Given the description of an element on the screen output the (x, y) to click on. 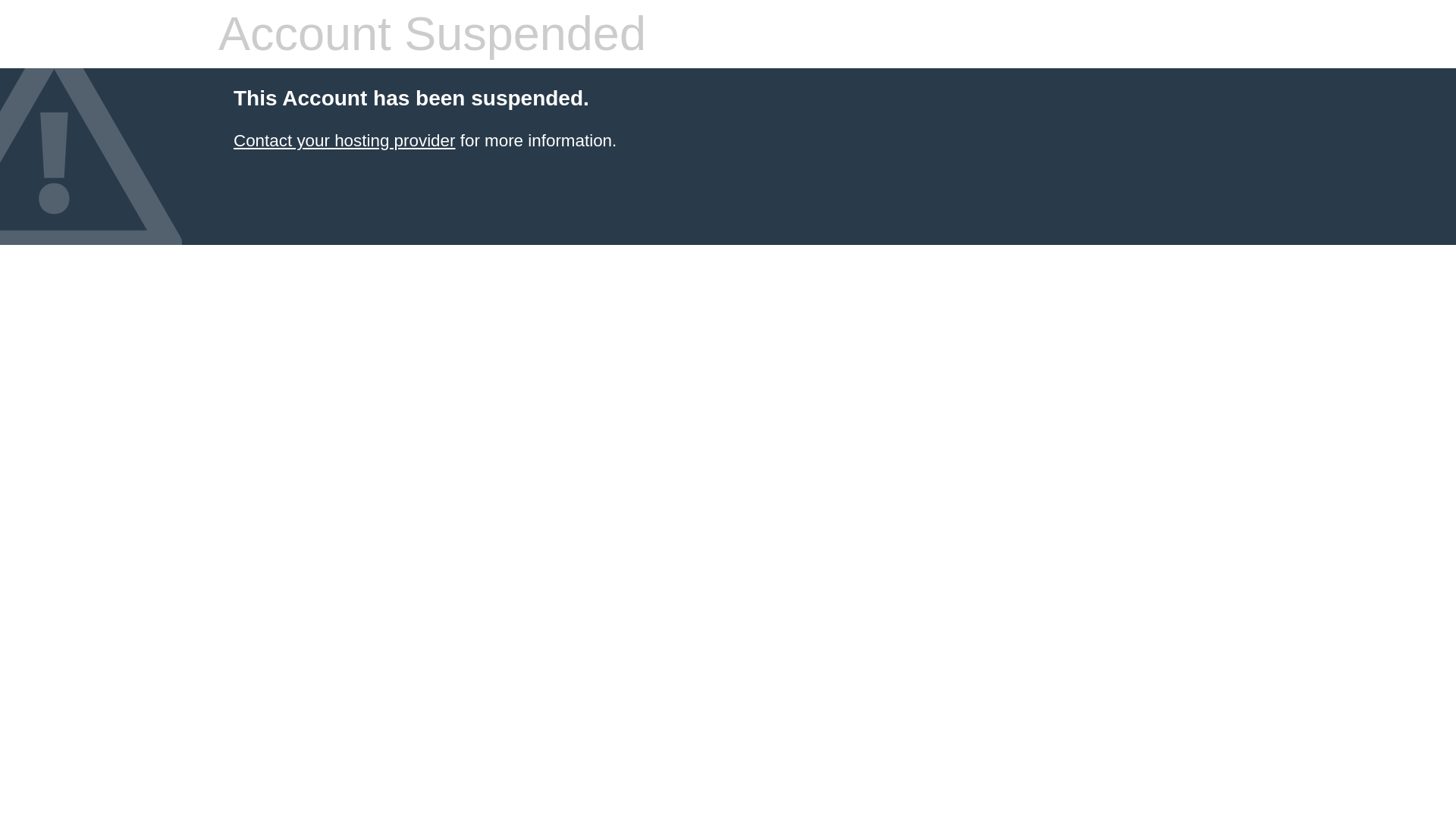
Contact your hosting provider (343, 140)
